Given the description of an element on the screen output the (x, y) to click on. 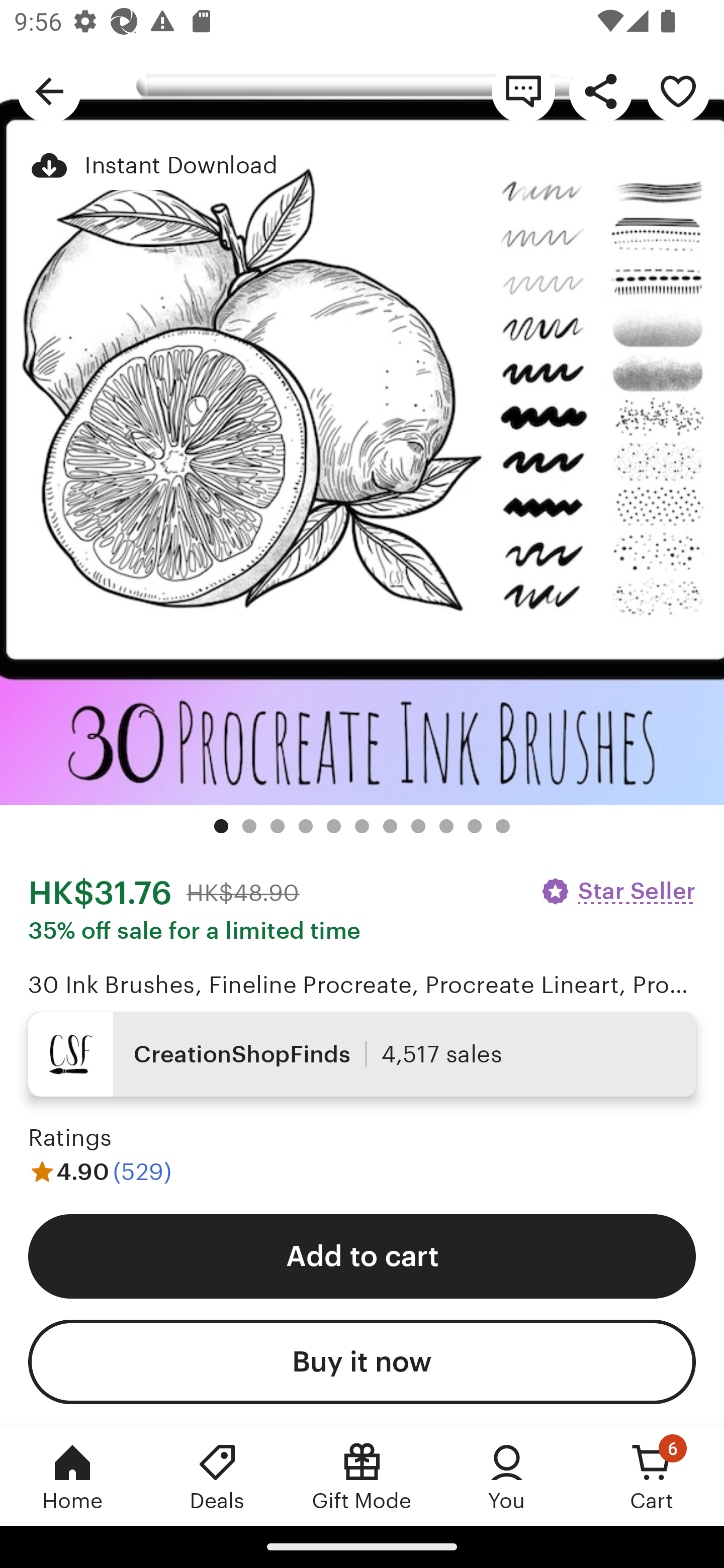
Navigate up (49, 90)
Contact shop (523, 90)
Share (600, 90)
Star Seller (617, 890)
CreationShopFinds 4,517 sales (361, 1054)
Ratings (70, 1137)
4.90 (529) (99, 1171)
Add to cart (361, 1255)
Buy it now (361, 1362)
Deals (216, 1475)
Gift Mode (361, 1475)
You (506, 1475)
Cart, 6 new notifications Cart (651, 1475)
